Given the description of an element on the screen output the (x, y) to click on. 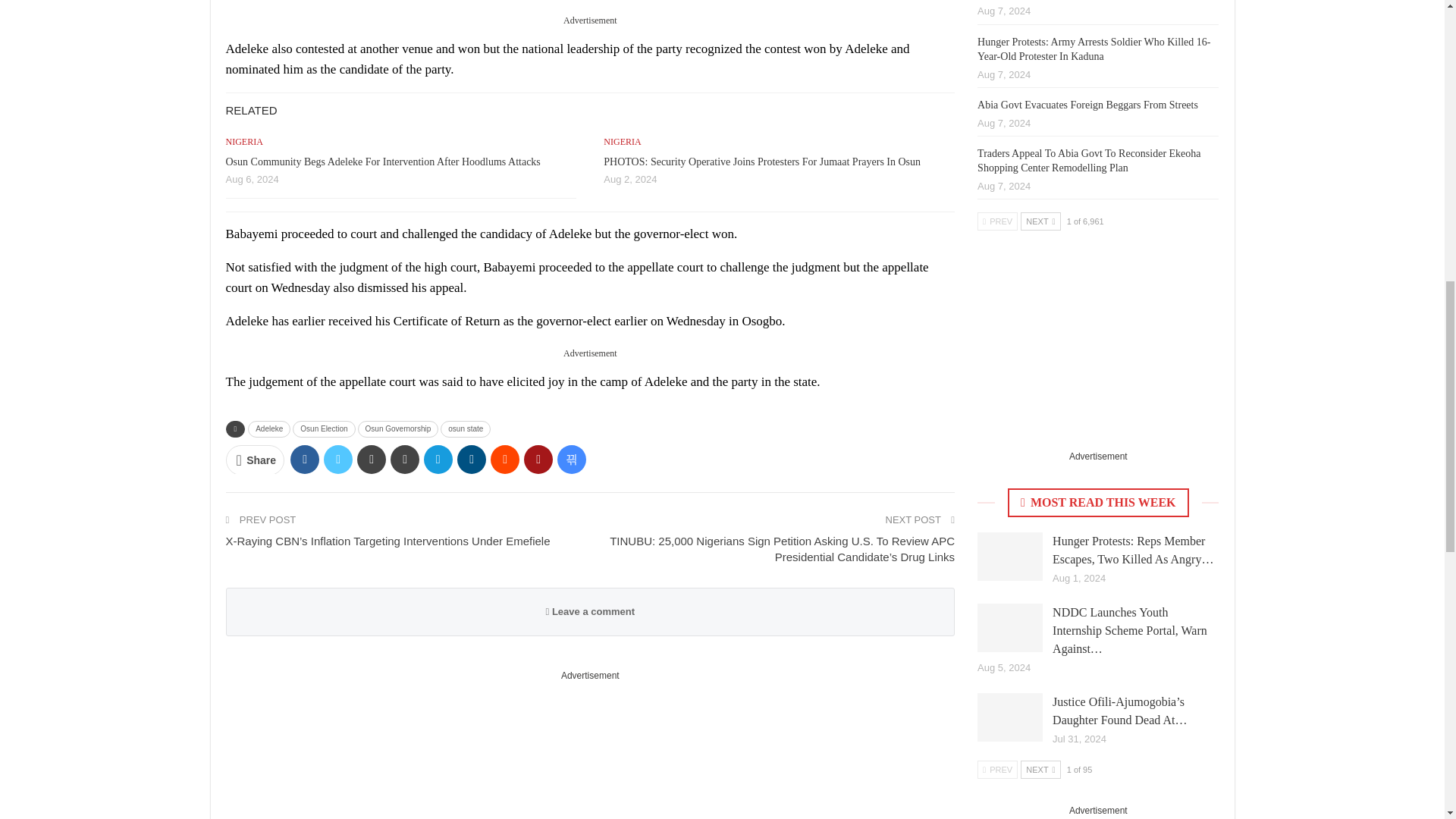
Next (1039, 769)
Previous (996, 769)
Previous (996, 221)
Next (1039, 221)
